Given the description of an element on the screen output the (x, y) to click on. 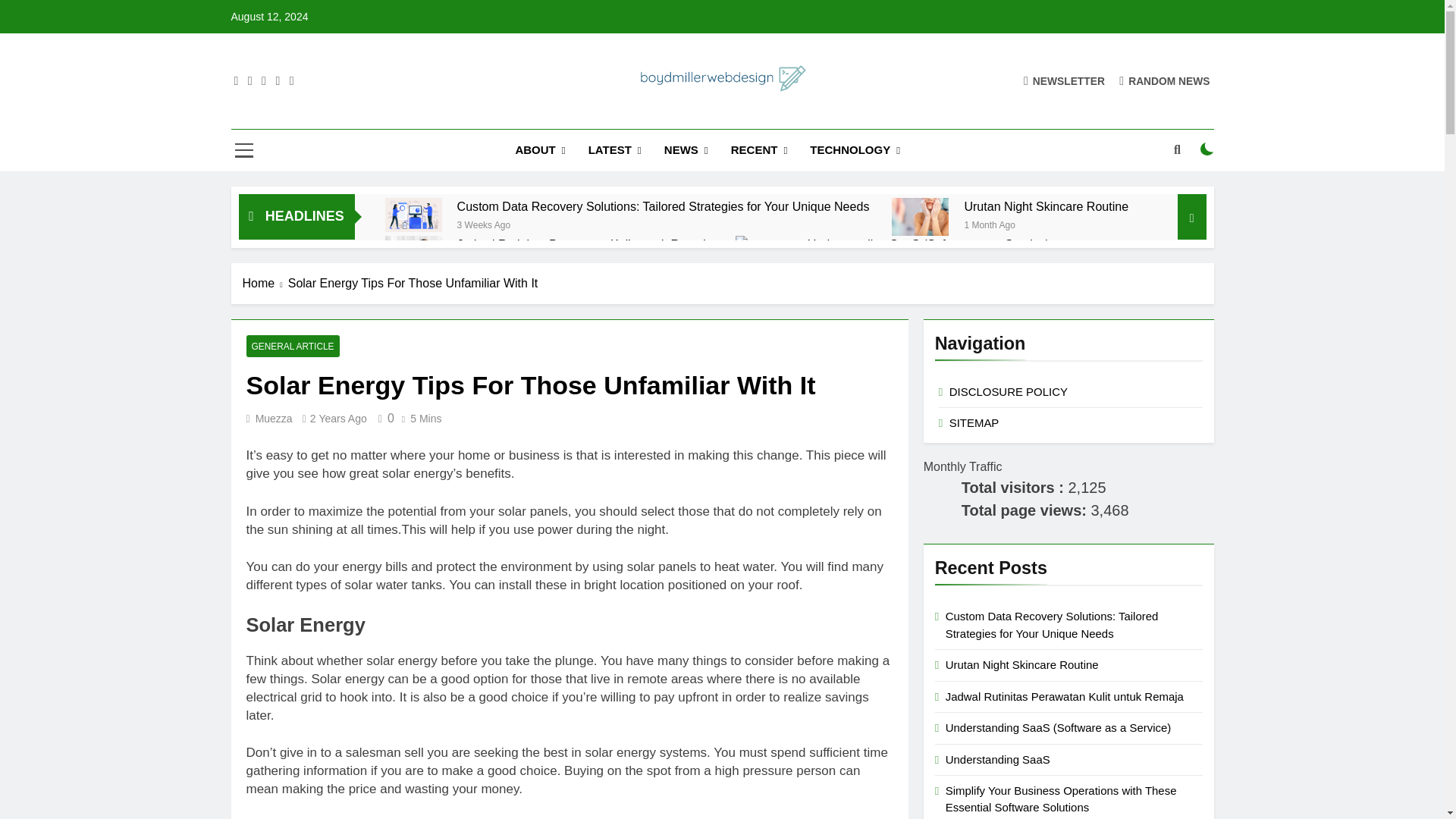
Urutan Night Skincare Routine (1045, 206)
ABOUT (539, 150)
NEWSLETTER (1064, 80)
NEWS (685, 150)
Jadwal Rutinitas Perawatan Kulit untuk Remaja (585, 244)
LATEST (614, 150)
Jadwal Rutinitas Perawatan Kulit untuk Remaja (413, 254)
RECENT (759, 150)
